Given the description of an element on the screen output the (x, y) to click on. 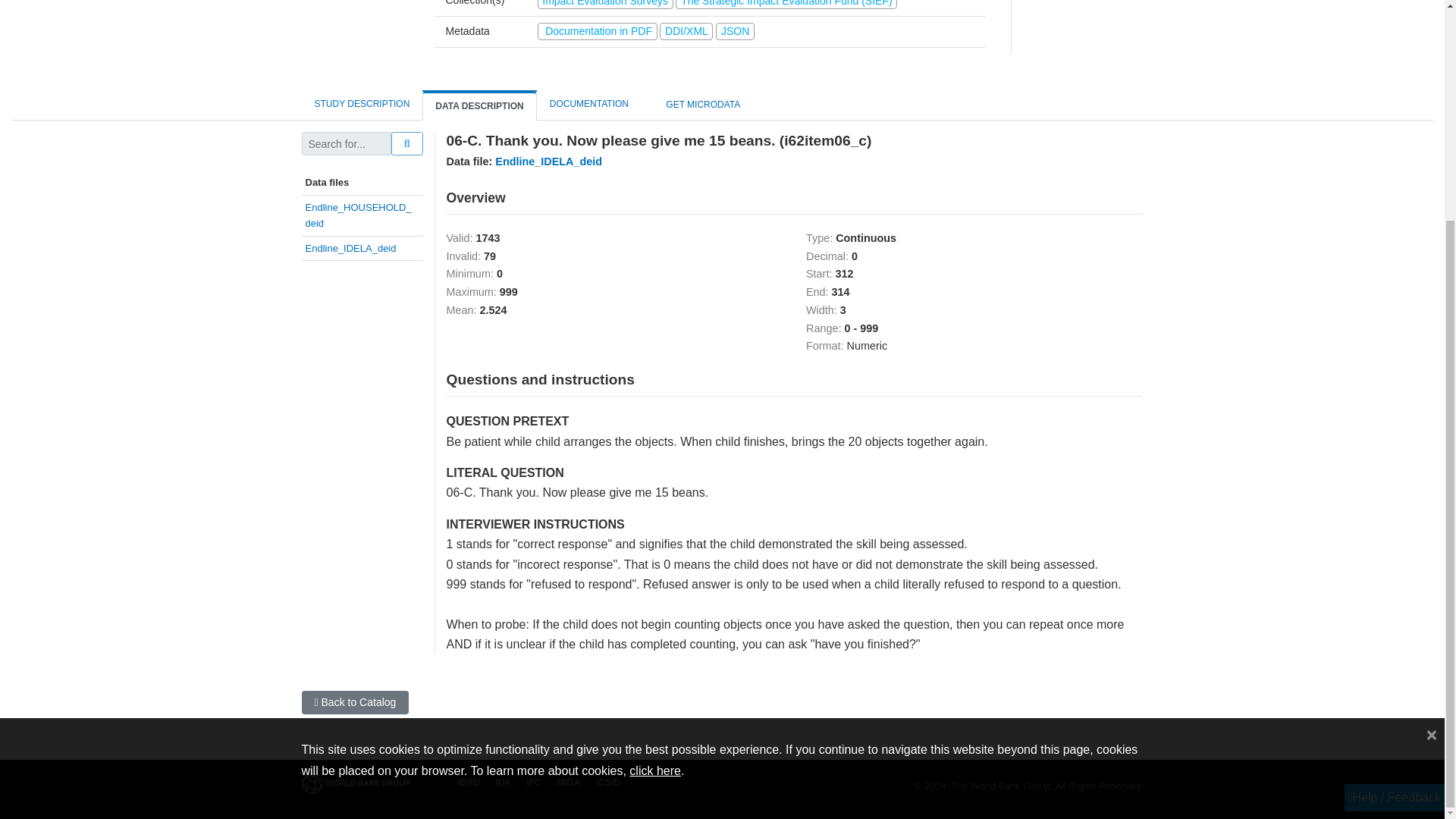
DOCUMENTATION (589, 104)
JSON (735, 30)
STUDY DESCRIPTION (362, 104)
GET MICRODATA (697, 104)
The World Bank Working for a World Free of Poverty (355, 782)
Documentation in PDF (599, 30)
Multilateral Investment Guarantee Agency (564, 782)
ICSID (604, 782)
International Finance Corporation (529, 782)
IDA (500, 782)
